Given the description of an element on the screen output the (x, y) to click on. 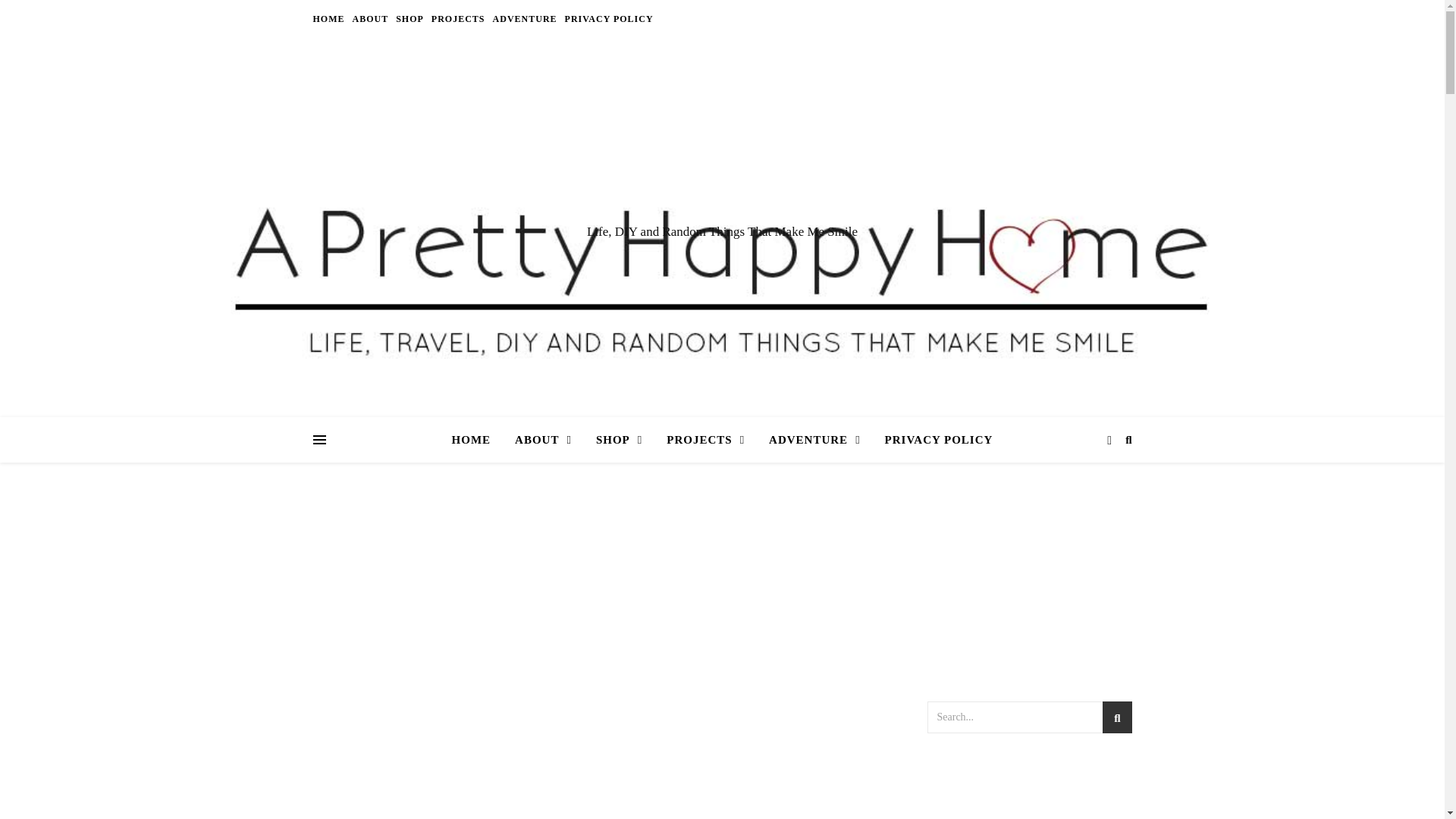
PROJECTS (458, 18)
SHOP (618, 439)
SHOP (409, 18)
HOME (330, 18)
ADVENTURE (524, 18)
ABOUT (371, 18)
PRIVACY POLICY (606, 18)
HOME (477, 439)
ABOUT (542, 439)
